Given the description of an element on the screen output the (x, y) to click on. 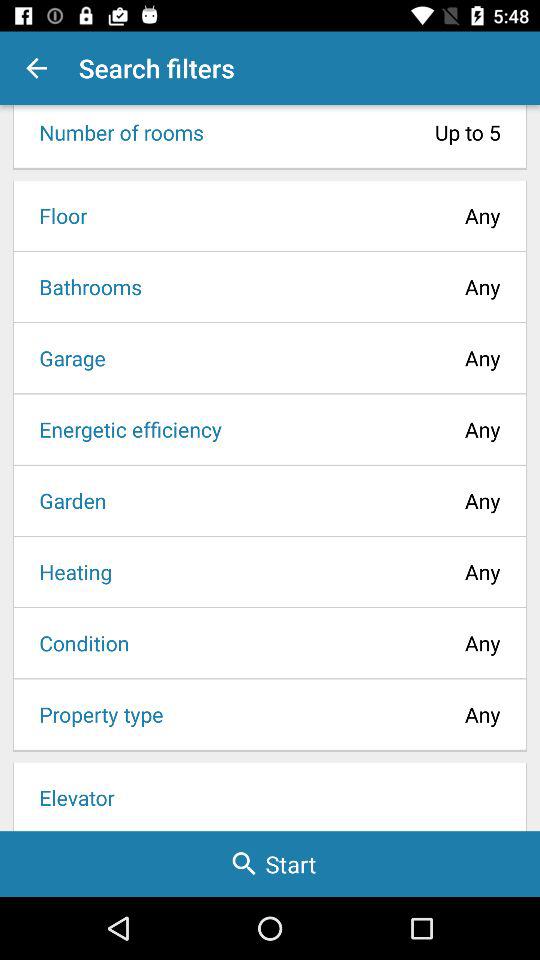
select the item above property type (77, 642)
